Given the description of an element on the screen output the (x, y) to click on. 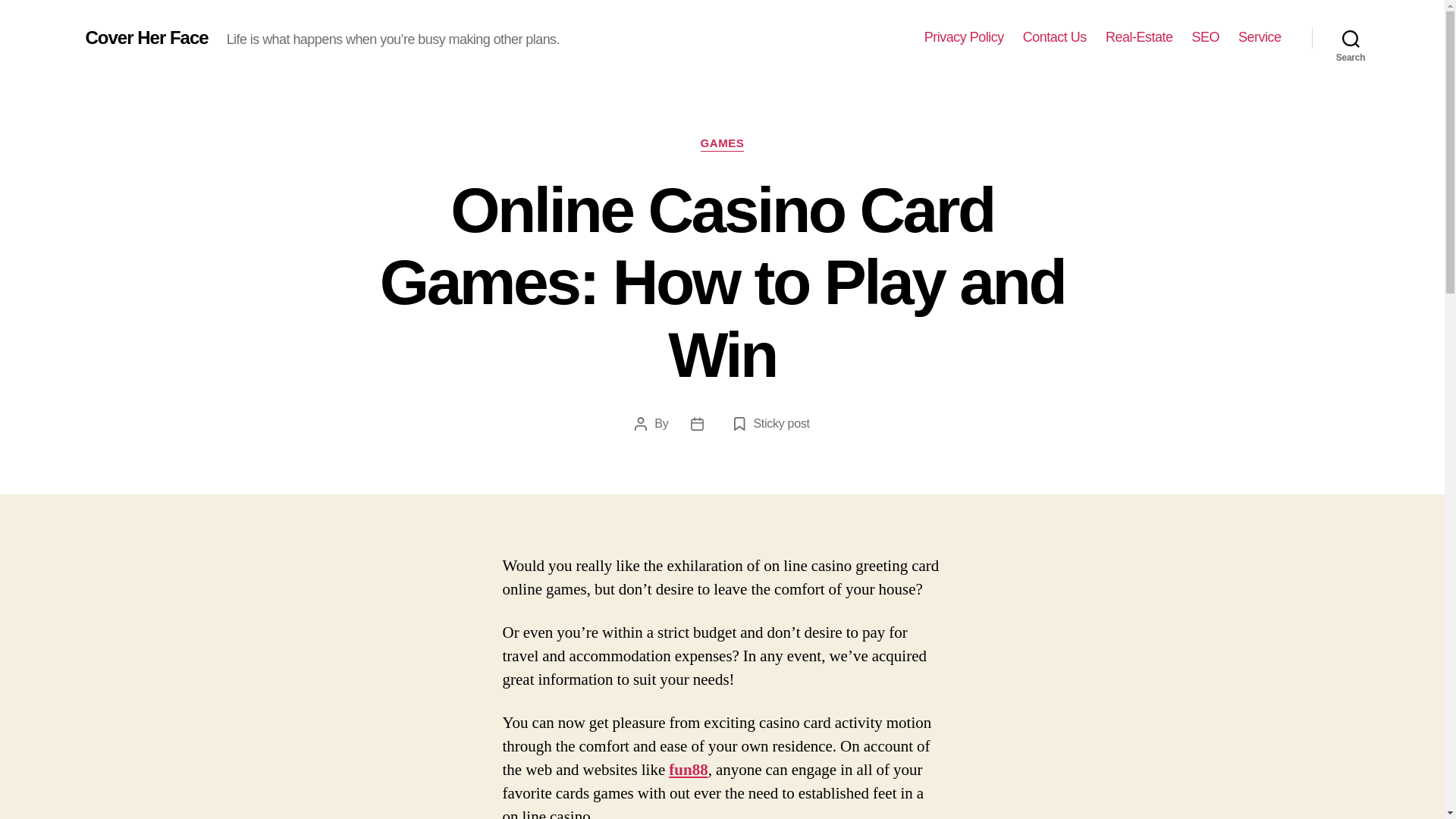
Real-Estate (1139, 37)
Search (1350, 37)
Service (1260, 37)
Cover Her Face (146, 37)
SEO (1205, 37)
Privacy Policy (964, 37)
GAMES (722, 143)
Contact Us (1054, 37)
fun88 (687, 770)
